Given the description of an element on the screen output the (x, y) to click on. 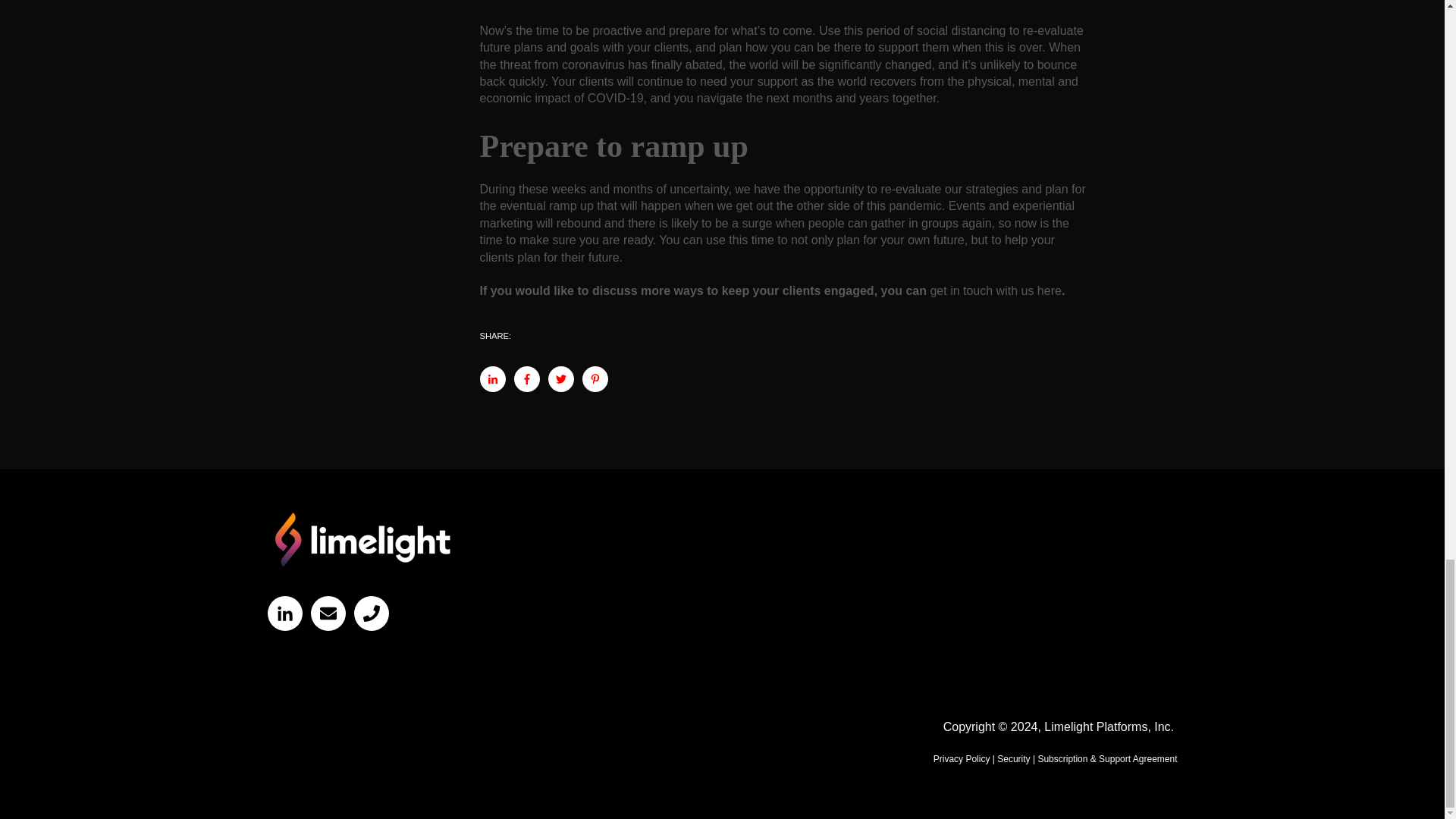
www.limelightplatform.com (361, 540)
get in touch with us here (995, 290)
Privacy Policy (961, 758)
